Given the description of an element on the screen output the (x, y) to click on. 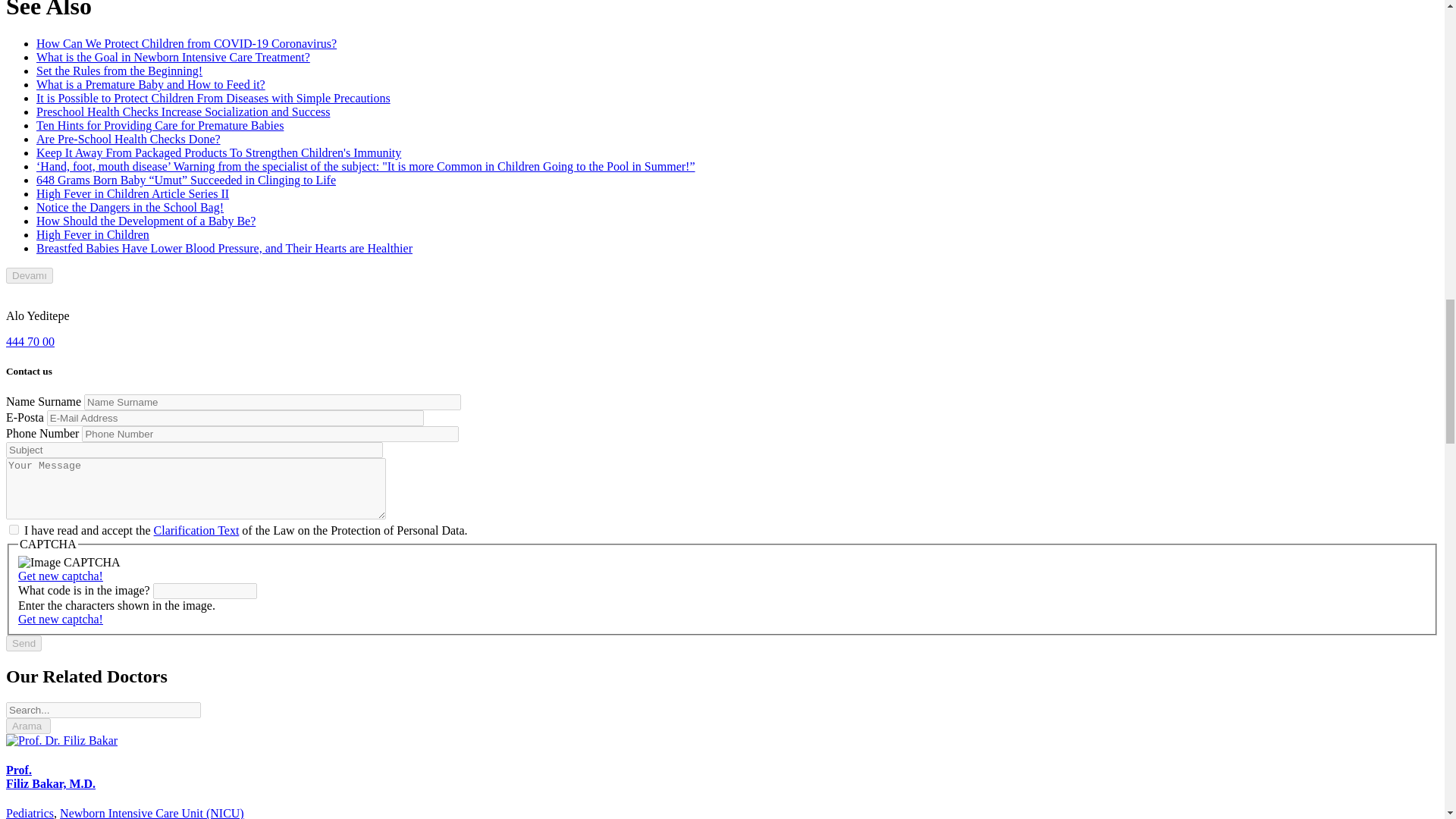
Arama  (27, 725)
Send (23, 643)
1 (13, 529)
